Given the description of an element on the screen output the (x, y) to click on. 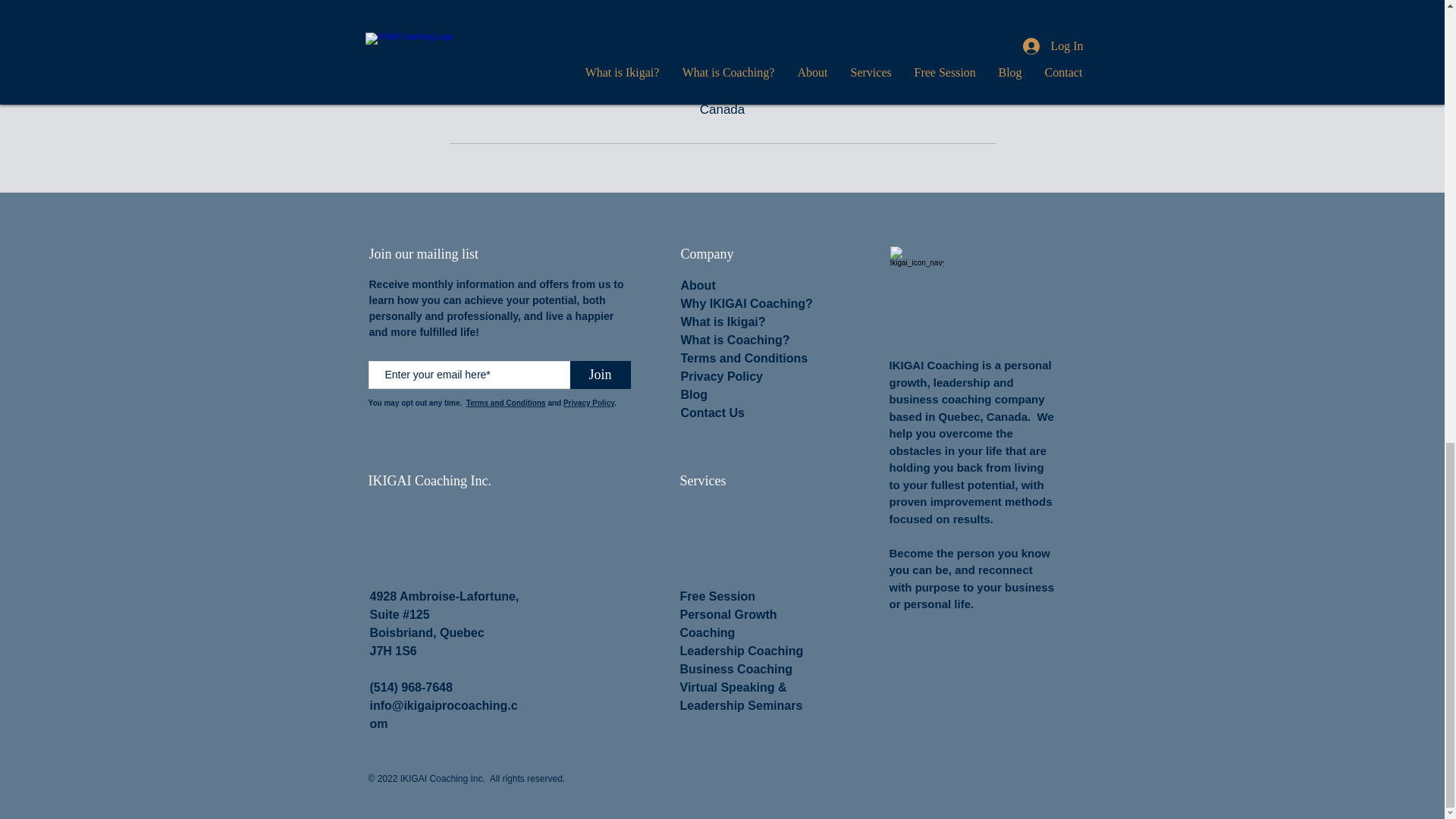
Privacy Policy (721, 376)
Terms and Conditions (505, 402)
Privacy Policy (588, 402)
Join (600, 375)
What is Ikigai? (723, 321)
Blog (694, 394)
Contact Us (712, 412)
What is Coaching? (735, 339)
Personal Growth Coaching (727, 623)
Terms and Conditions (744, 358)
